Given the description of an element on the screen output the (x, y) to click on. 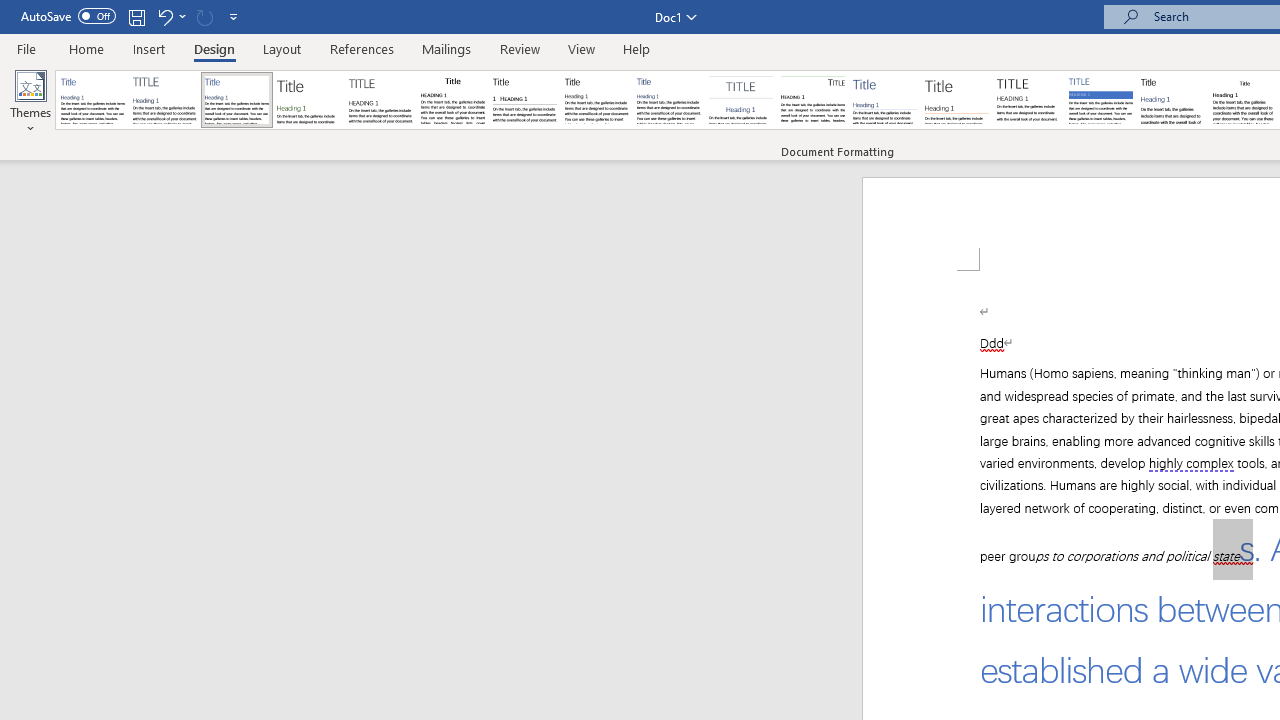
Themes (30, 102)
Lines (Distinctive) (812, 100)
Casual (669, 100)
Document (93, 100)
Undo Apply Quick Style Set (164, 15)
Lines (Stylish) (957, 100)
